Given the description of an element on the screen output the (x, y) to click on. 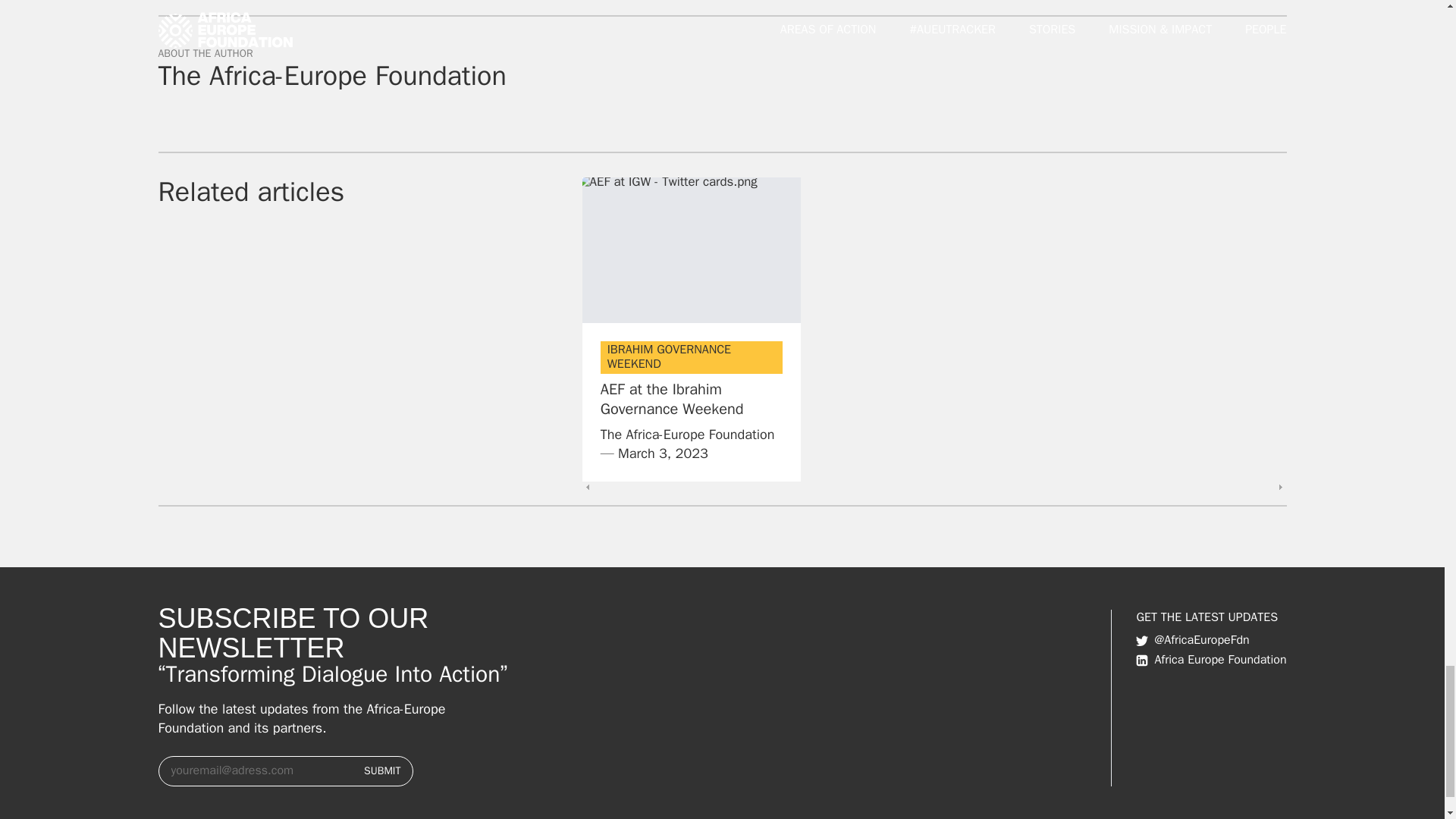
Africa Europe Foundation (1210, 660)
SUBMIT (382, 770)
